Given the description of an element on the screen output the (x, y) to click on. 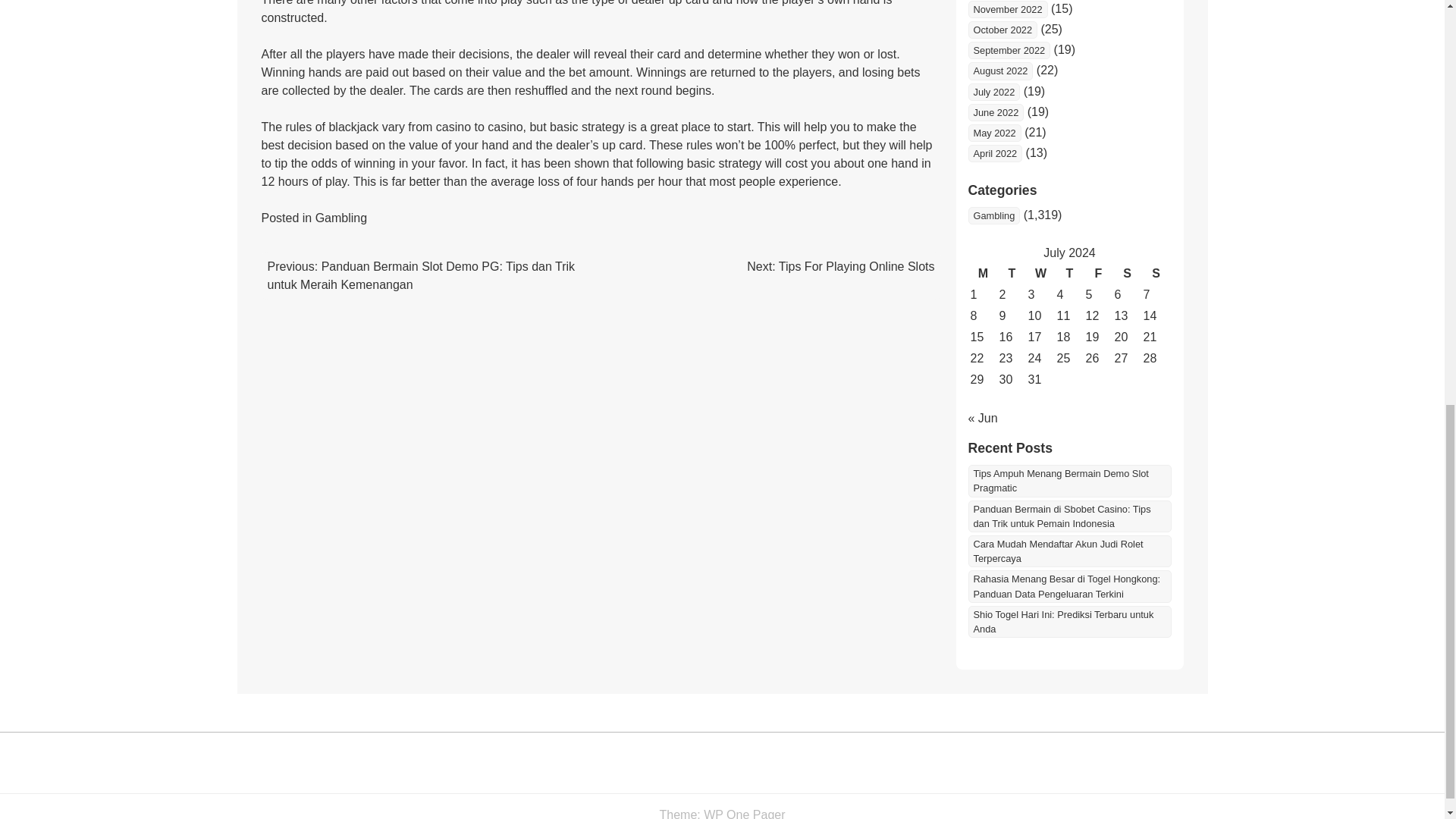
Sunday (1155, 273)
Tuesday (1011, 273)
Monday (982, 273)
April 2022 (995, 153)
June 2022 (995, 112)
Friday (1098, 273)
September 2022 (1008, 49)
October 2022 (1002, 29)
May 2022 (994, 132)
July 2022 (994, 91)
Gambling (340, 217)
Saturday (1126, 273)
Gambling (994, 215)
Next: Tips For Playing Online Slots (840, 266)
